Given the description of an element on the screen output the (x, y) to click on. 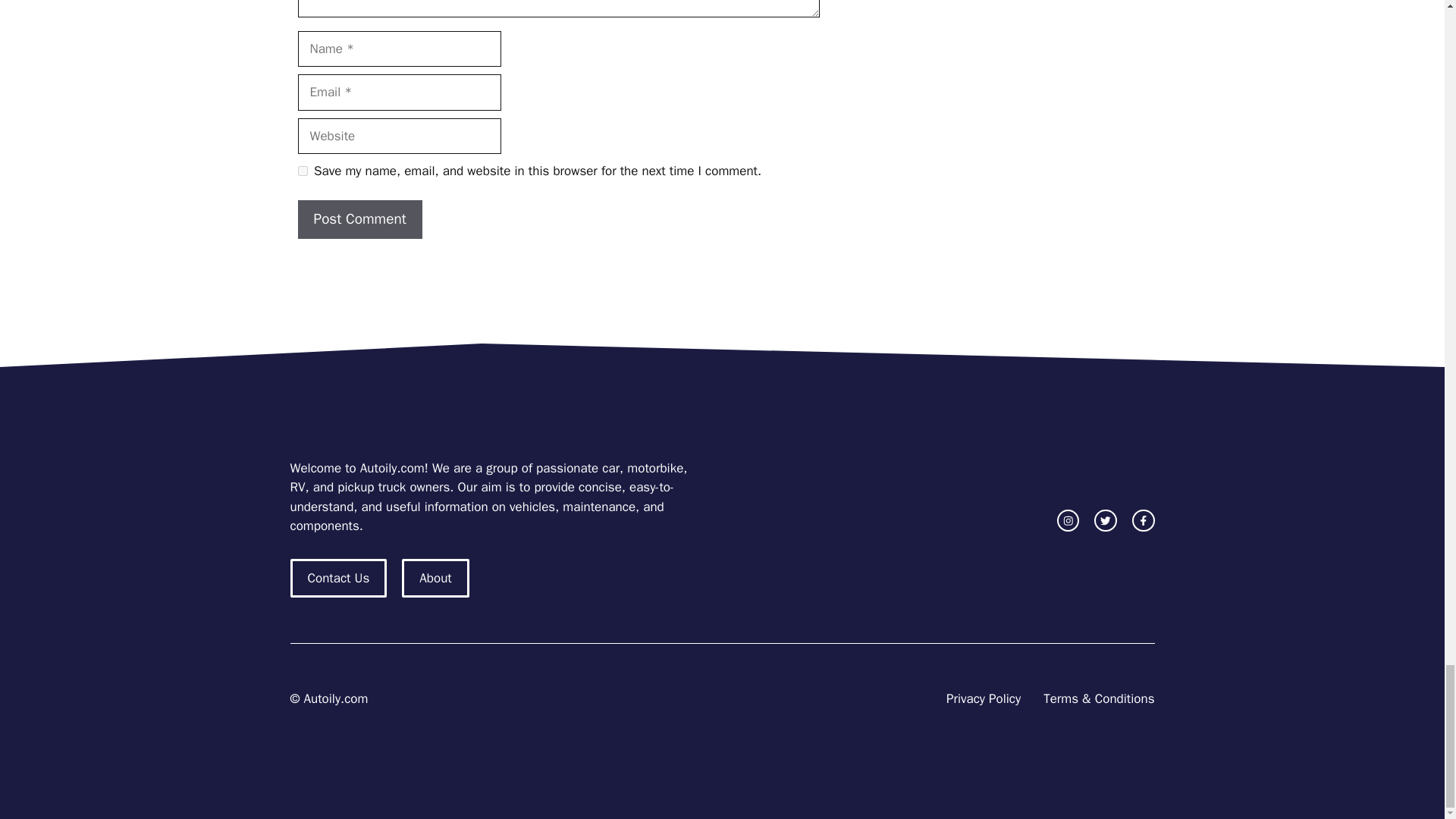
Post Comment (359, 219)
About (434, 578)
Privacy Policy (983, 699)
Post Comment (359, 219)
yes (302, 171)
Contact Us (338, 578)
